Given the description of an element on the screen output the (x, y) to click on. 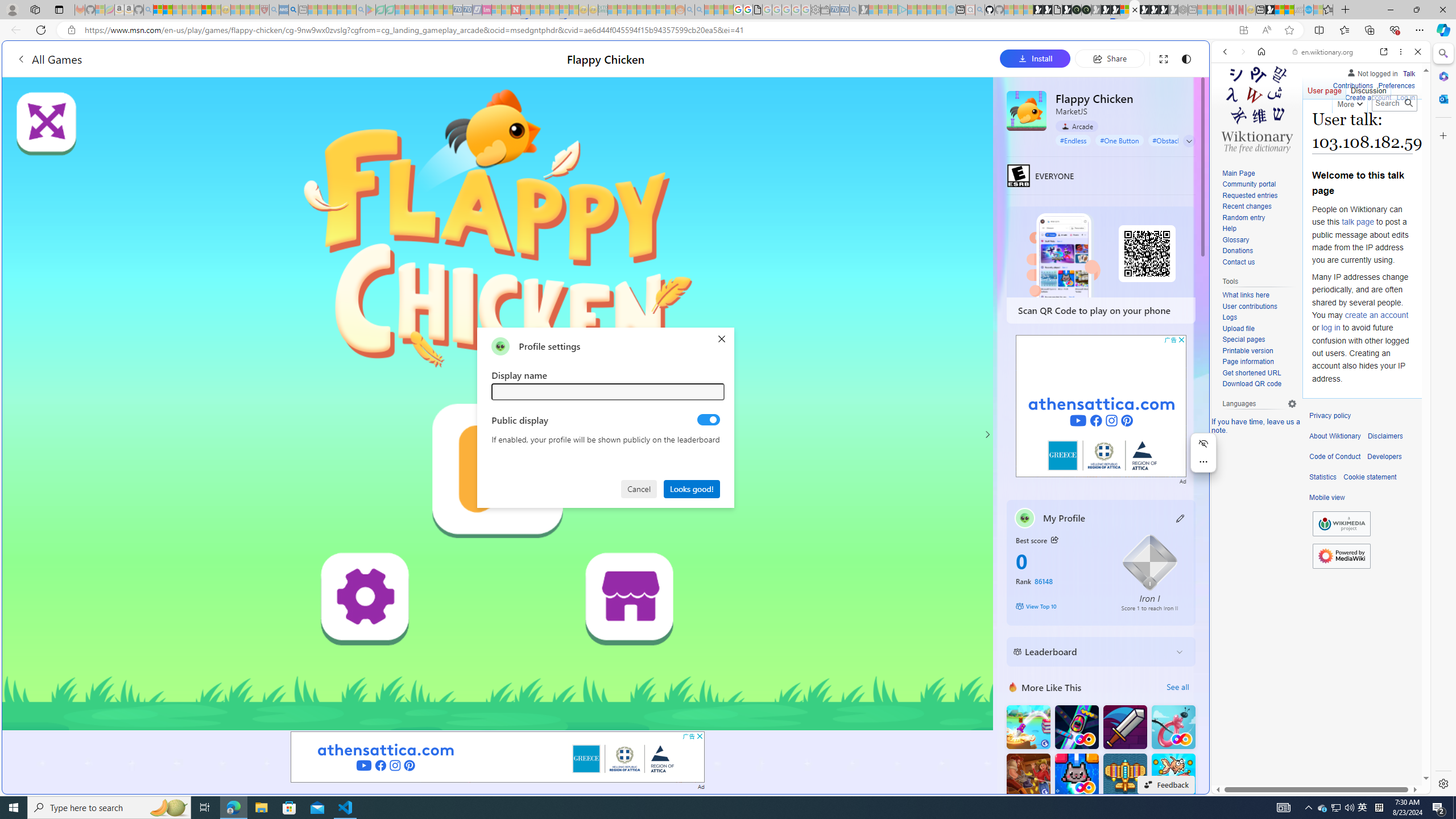
Mini menu on text selection (1203, 452)
Atlantic Sky Hunter (1124, 775)
#Obstacle Course (1178, 140)
en.wiktionary.org (1323, 51)
Home | Sky Blue Bikes - Sky Blue Bikes - Sleeping (950, 9)
github - Search - Sleeping (979, 9)
Code of Conduct (1334, 456)
Random entry (1243, 216)
All Games (212, 58)
